Given the description of an element on the screen output the (x, y) to click on. 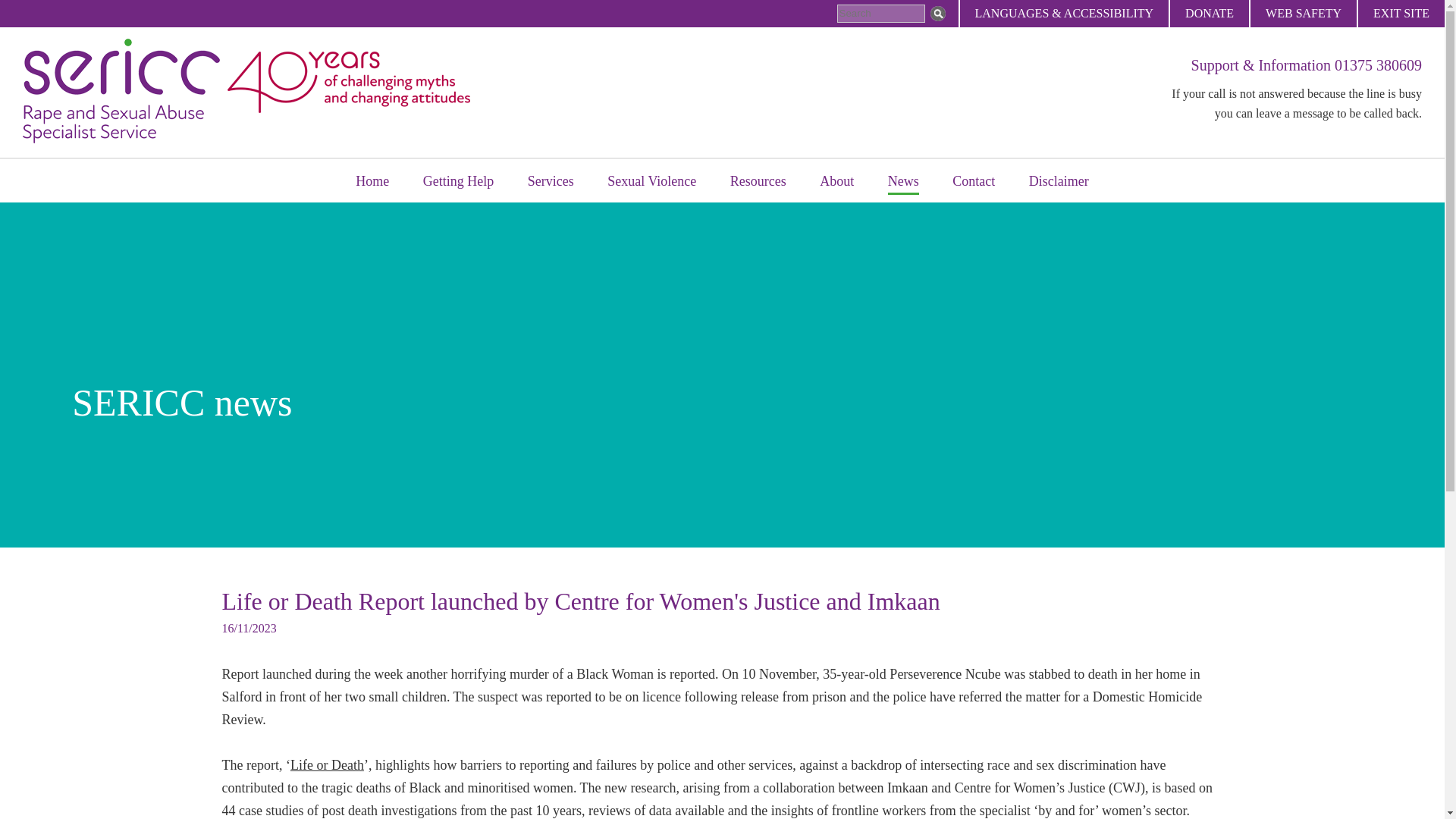
Contact (973, 181)
About (836, 181)
Resources (758, 181)
Home (371, 181)
Getting Help (458, 181)
About (836, 181)
Resources (758, 181)
Sexual Violence (651, 181)
Services (550, 181)
Getting Help (458, 181)
DONATE (1209, 13)
WEB SAFETY (1302, 13)
News (903, 181)
Services (550, 181)
Disclaimer (1059, 181)
